Given the description of an element on the screen output the (x, y) to click on. 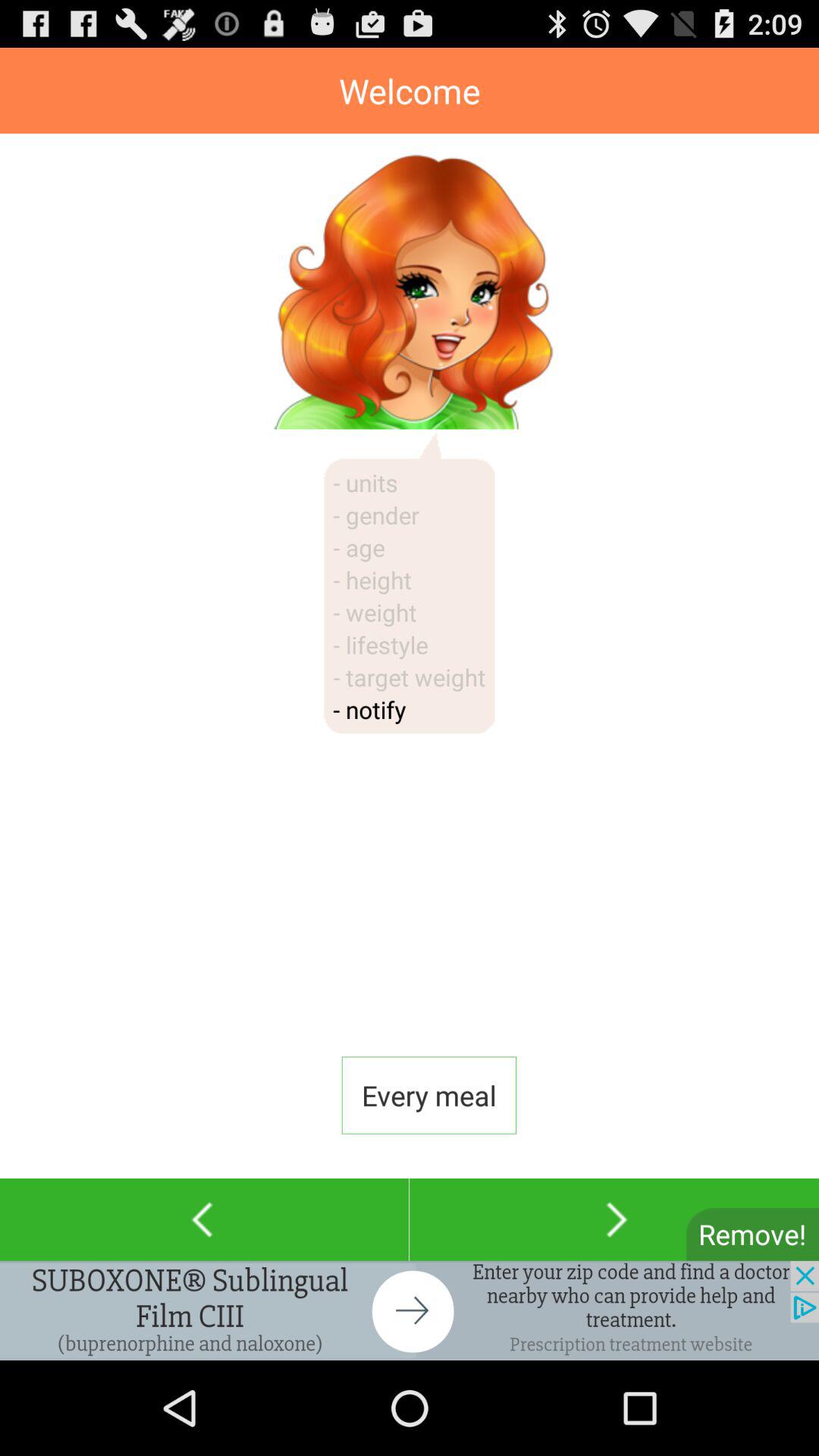
go to addverdisment (409, 1310)
